Given the description of an element on the screen output the (x, y) to click on. 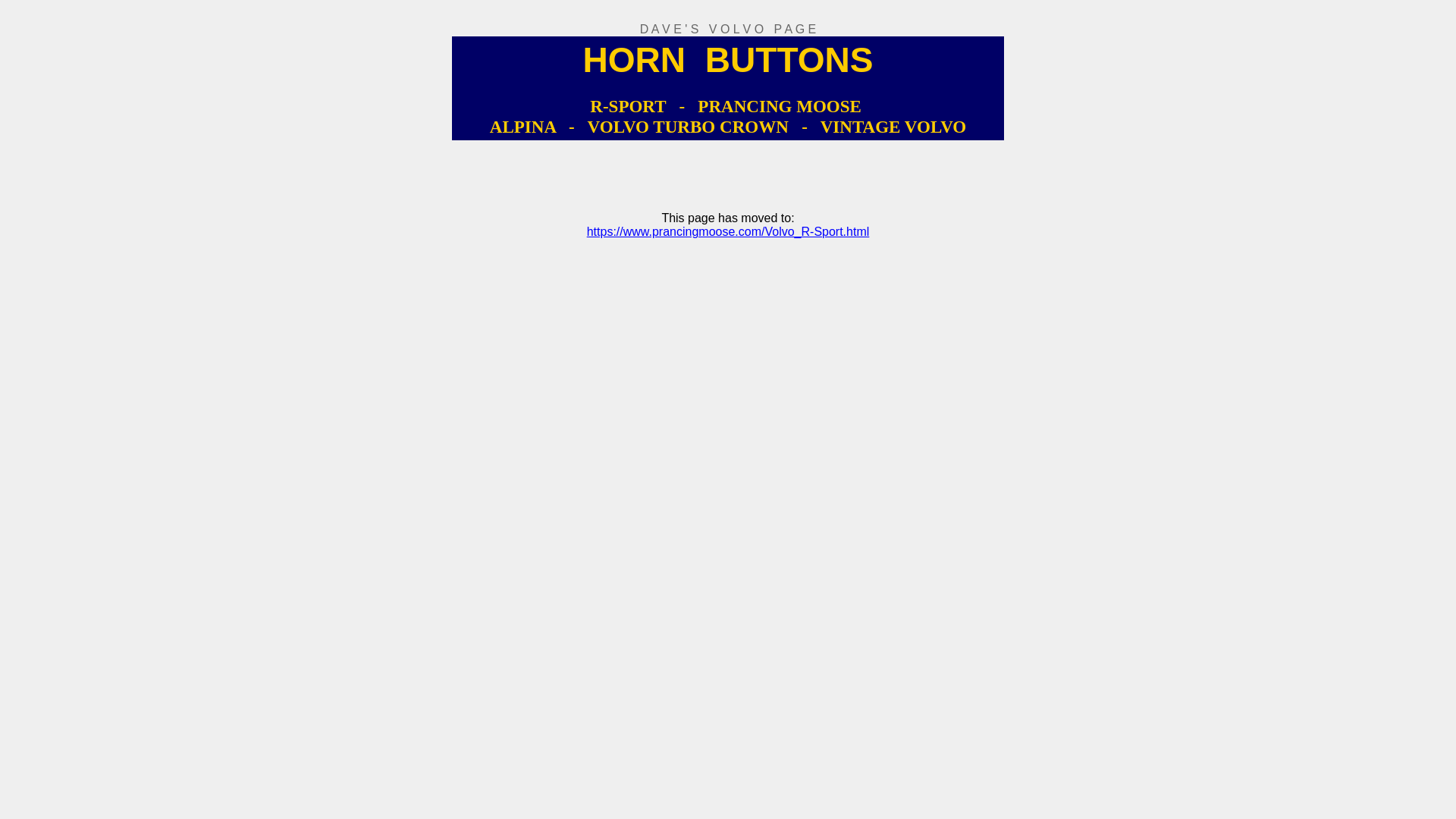
https://www.prancingmoose.com/Volvo_R-Sport.html Element type: text (727, 231)
Advertisement Element type: hover (724, 174)
